Given the description of an element on the screen output the (x, y) to click on. 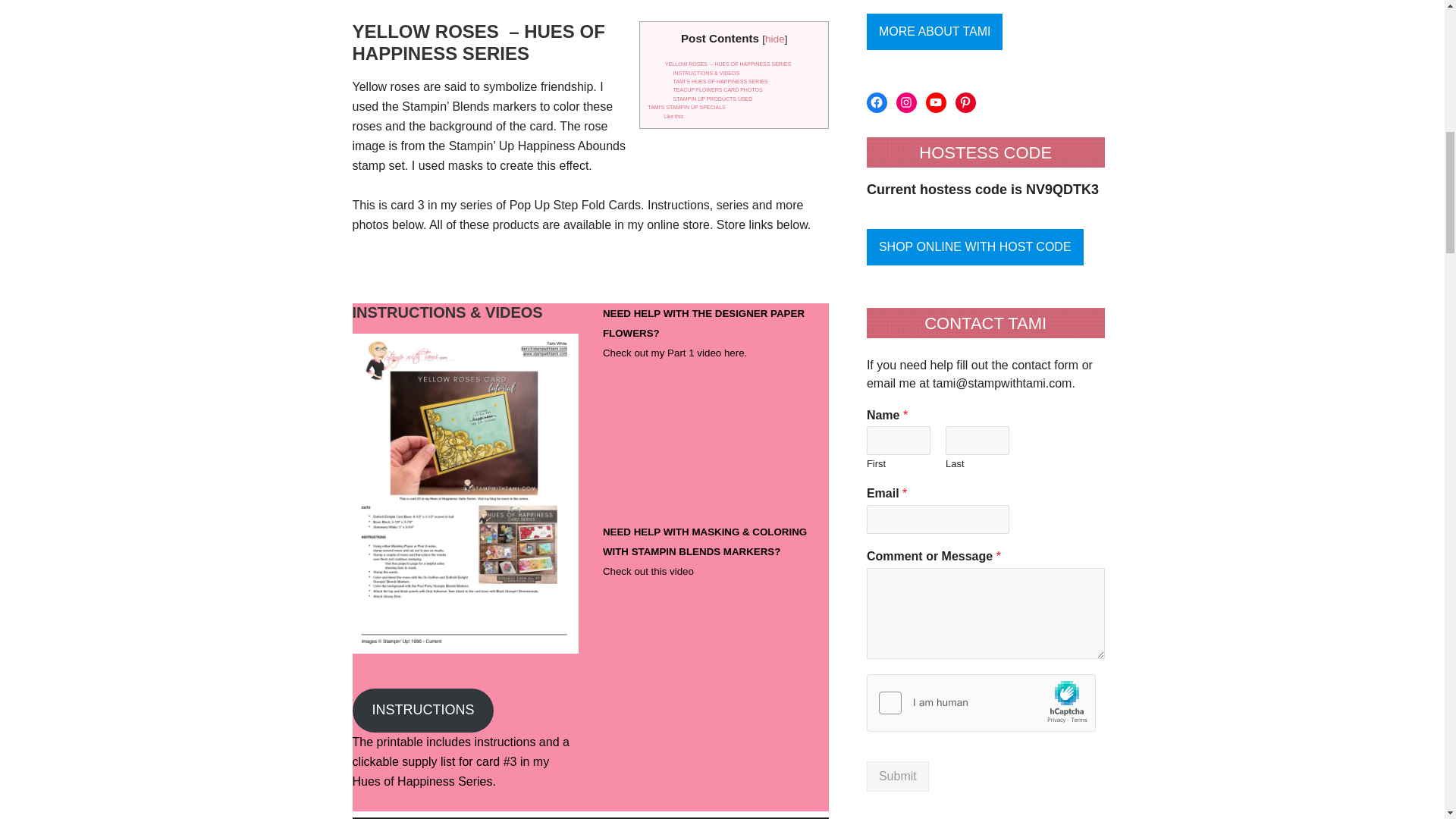
STAMPIN UP PRODUCTS USED (712, 98)
TEACUP FLOWERS CARD PHOTOS (717, 89)
YouTube video player (678, 439)
hide (774, 39)
TAMI'S STAMPIN UP SPECIALS (686, 106)
